Given the description of an element on the screen output the (x, y) to click on. 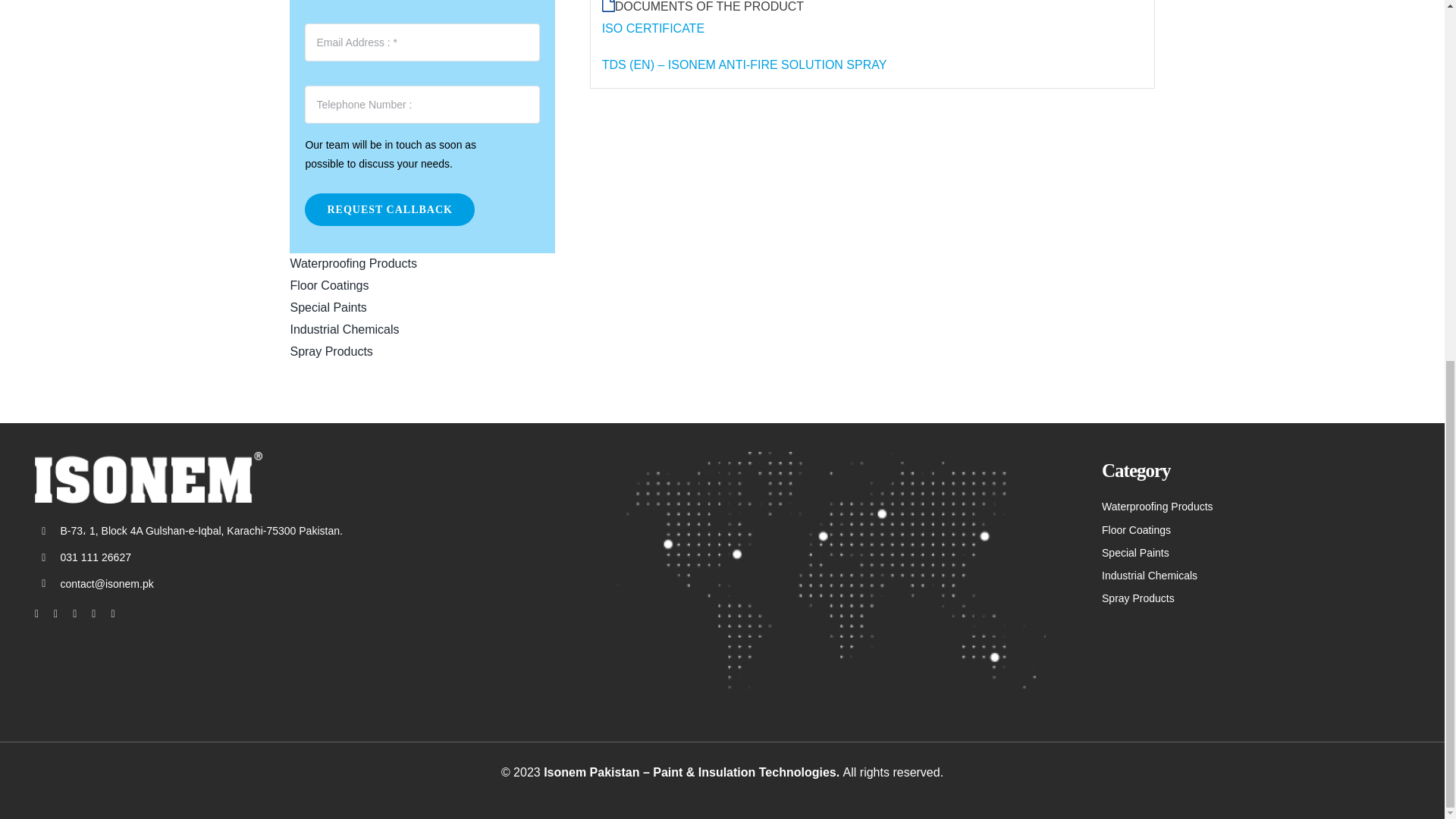
Isonem (148, 477)
REQUEST CALLBACK (389, 209)
map (830, 574)
Spray Products (421, 352)
Industrial Chemicals (421, 330)
Special Paints (421, 308)
Only numbers and phone characters are accepted. (422, 104)
Waterproofing Products (421, 264)
ISO CERTIFICATE (653, 28)
Floor Coatings (421, 286)
